Given the description of an element on the screen output the (x, y) to click on. 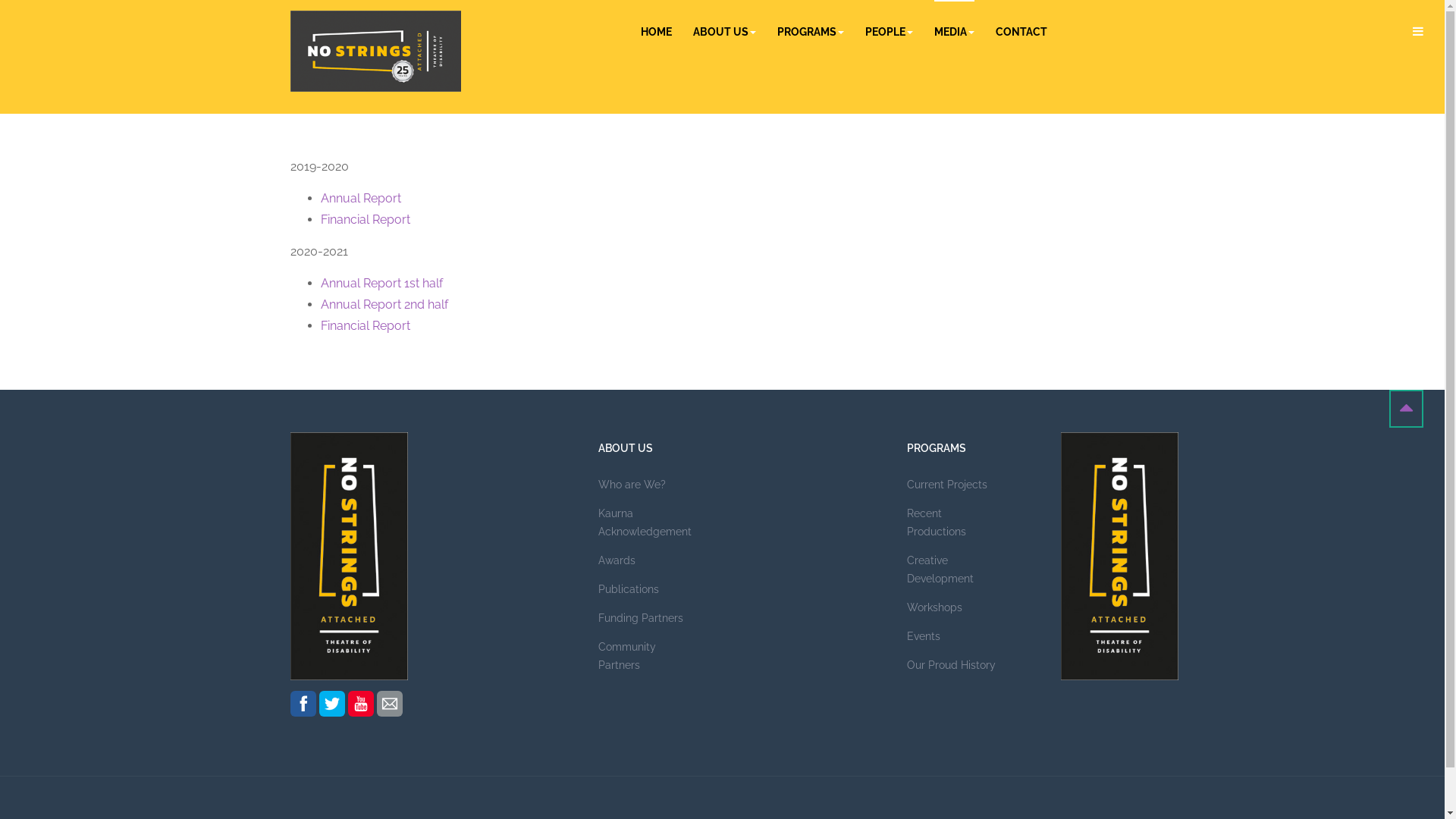
Financial Report Element type: text (364, 325)
PROGRAMS Element type: text (809, 31)
Who are We? Element type: text (644, 489)
CONTACT Element type: text (1020, 31)
Our Proud History Element type: text (953, 669)
PEOPLE Element type: text (888, 31)
HOME Element type: text (655, 31)
Creative Development Element type: text (953, 574)
Recent Productions Element type: text (953, 527)
Events Element type: text (953, 641)
No Strings Attached Element type: hover (374, 50)
Annual Report 1st half Element type: text (381, 283)
Funding Partners Element type: text (644, 622)
Email Element type: hover (389, 703)
Annual Report 2nd half  Element type: text (385, 304)
Kaurna Acknowledgement Element type: text (644, 527)
Back to Top Element type: hover (1406, 408)
Community Partners Element type: text (644, 660)
Awards Element type: text (644, 565)
Youtube Element type: hover (360, 703)
Workshops Element type: text (953, 612)
Current Projects Element type: text (953, 489)
Facebook Element type: hover (303, 703)
MEDIA Element type: text (954, 31)
Annual Report Element type: text (360, 198)
Publications Element type: text (644, 594)
Financial Report Element type: text (364, 219)
ABOUT US Element type: text (724, 31)
Twitter Element type: hover (332, 703)
